Given the description of an element on the screen output the (x, y) to click on. 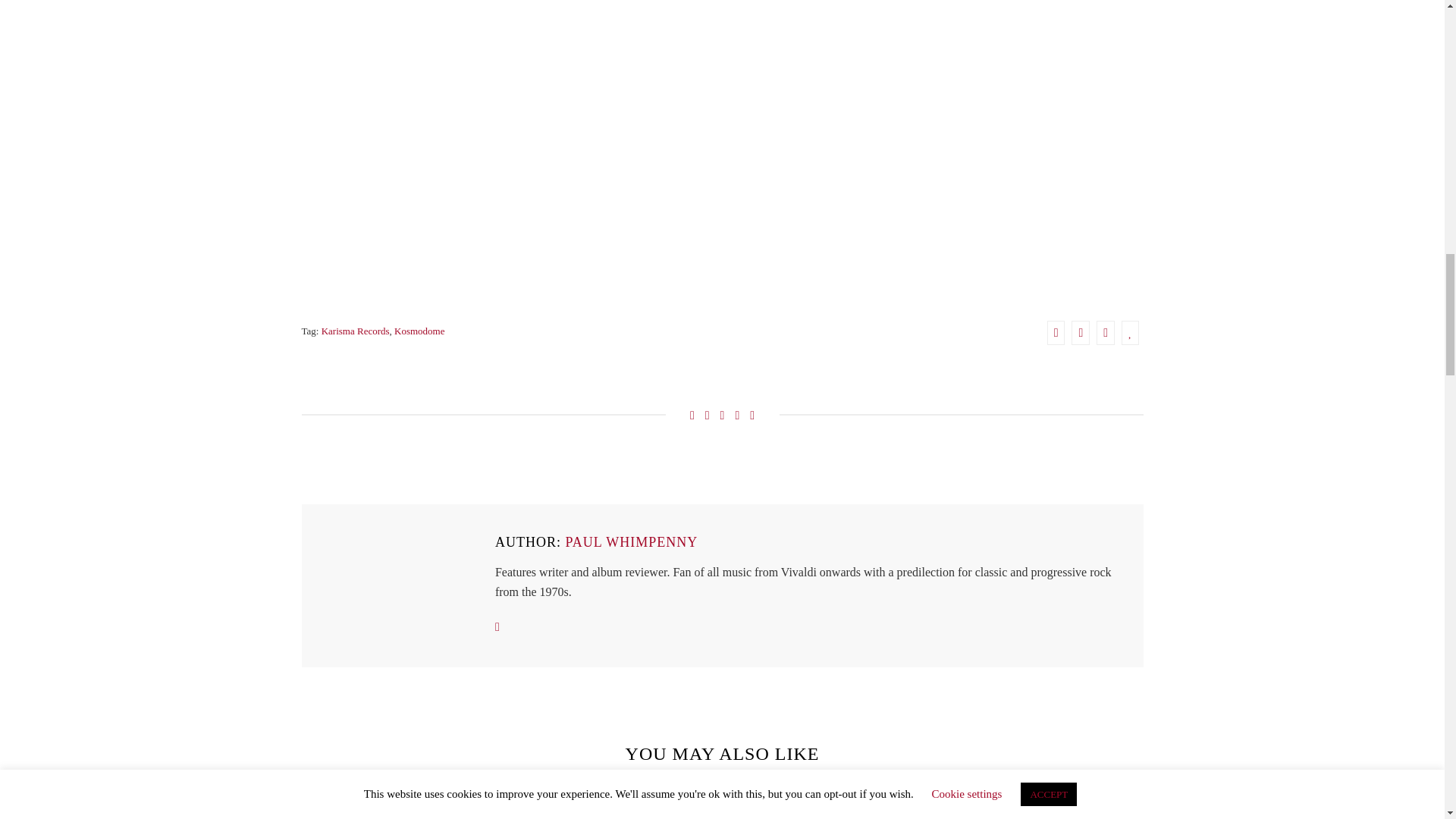
Kosmodome (419, 331)
PAUL WHIMPENNY (630, 542)
Karisma Records (355, 331)
